Given the description of an element on the screen output the (x, y) to click on. 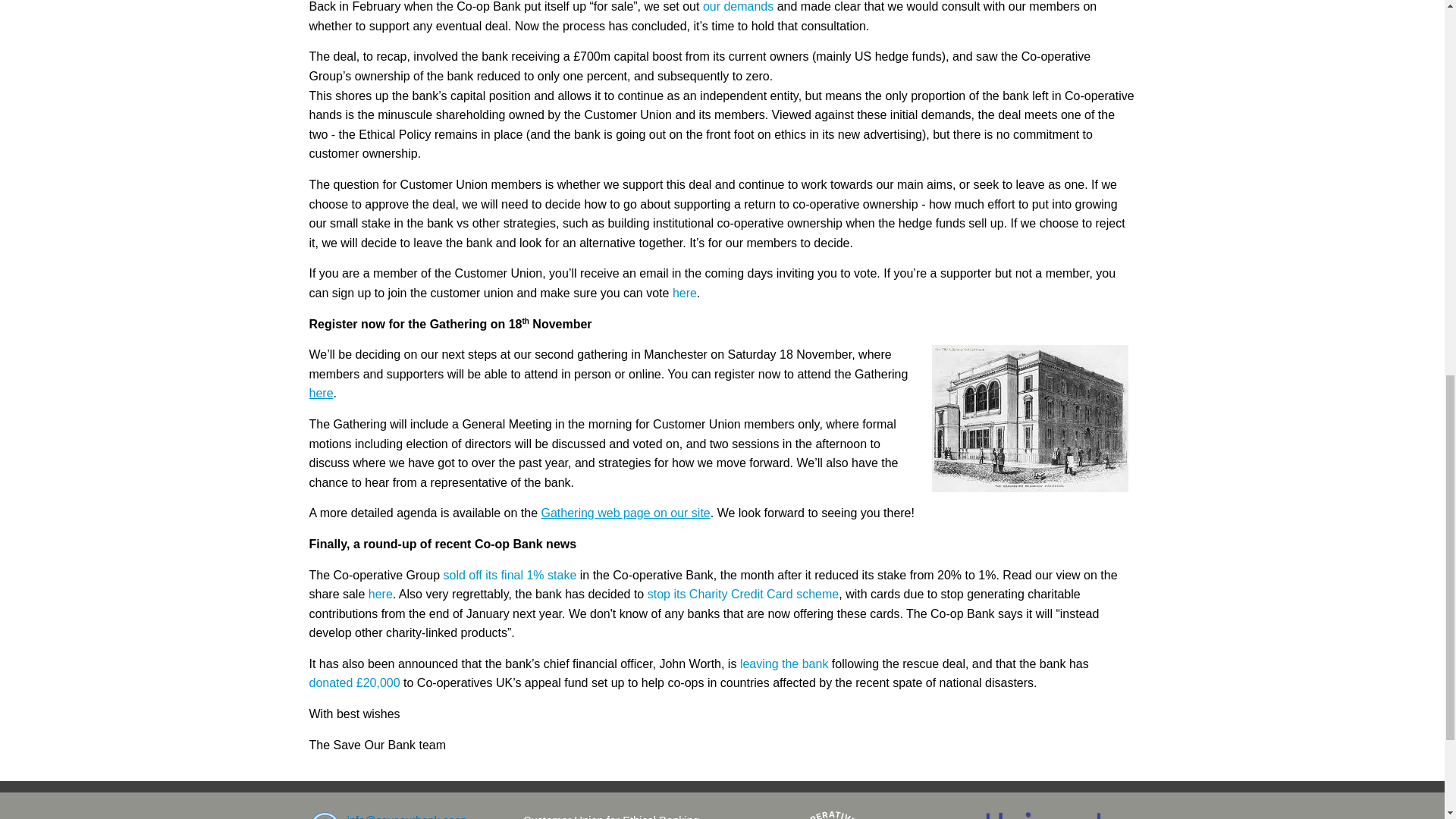
Gathering web page on our site (625, 512)
leaving the bank (783, 663)
stop its Charity Credit Card scheme (743, 594)
here (684, 292)
here (320, 392)
here (380, 594)
our demands (738, 6)
